Given the description of an element on the screen output the (x, y) to click on. 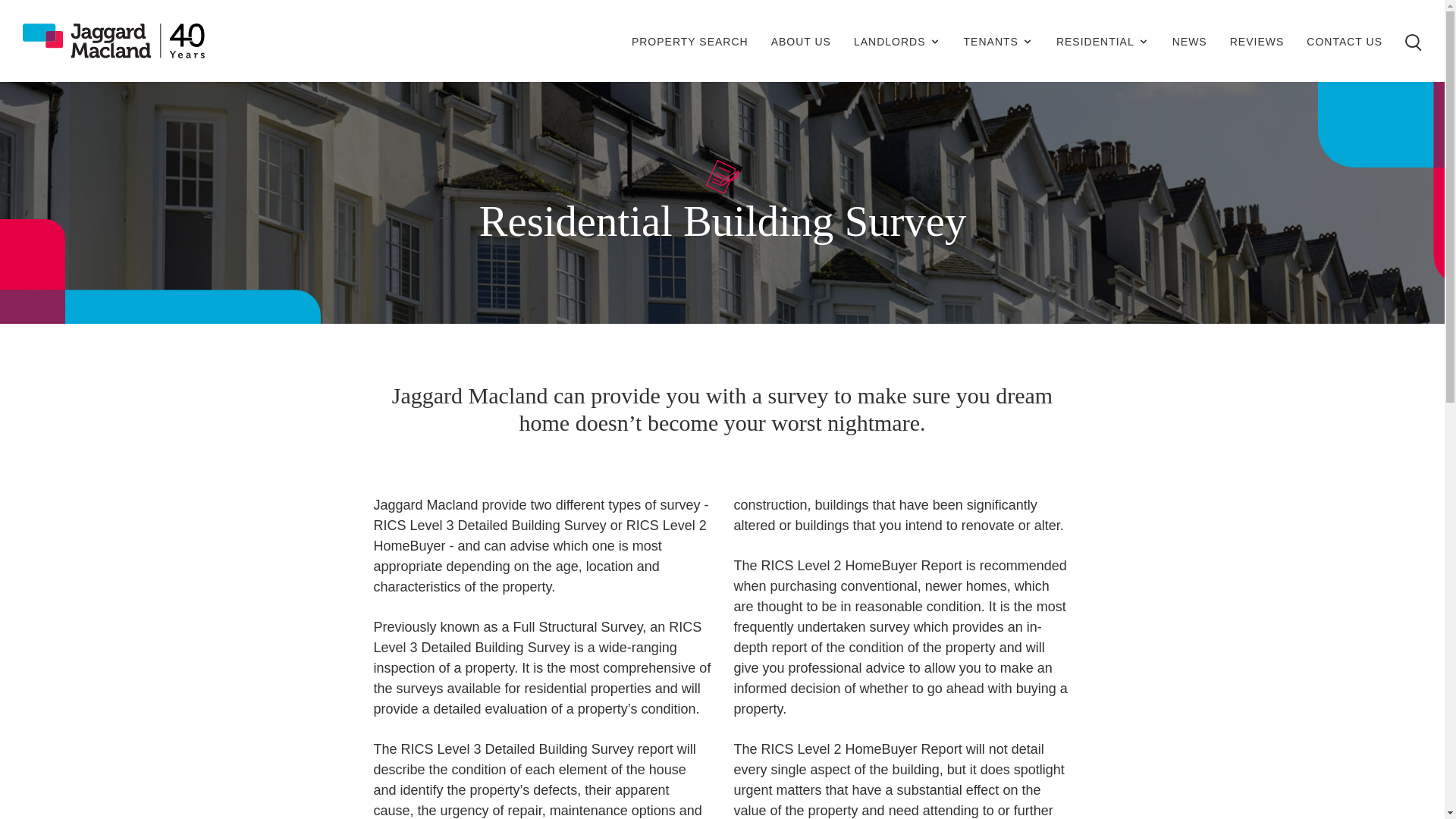
RESIDENTIAL (1103, 42)
LANDLORDS (896, 42)
PROPERTY SEARCH (689, 43)
CONTACT US (1343, 43)
